Given the description of an element on the screen output the (x, y) to click on. 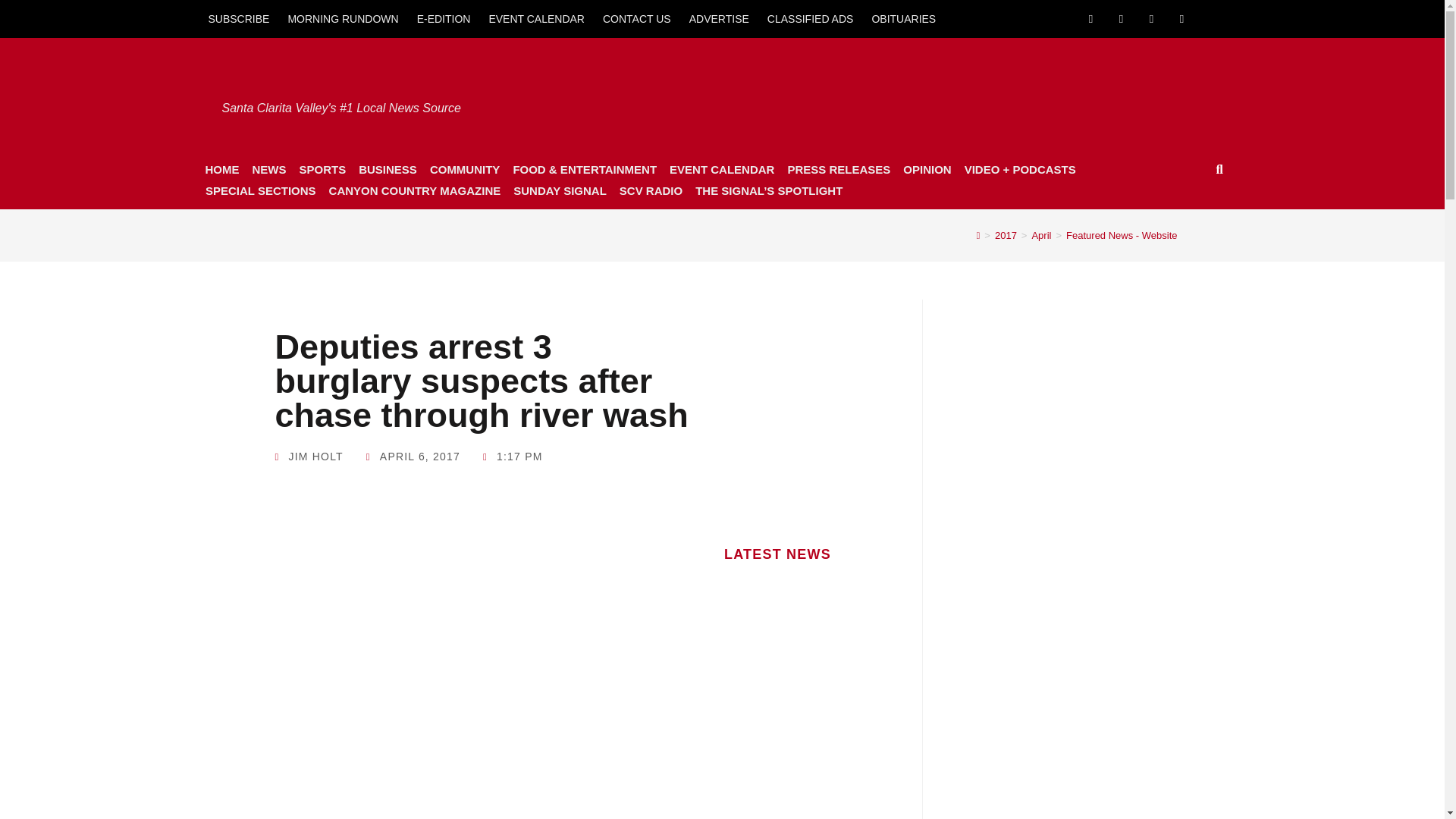
E-EDITION (443, 18)
SPORTS (322, 169)
EVENT CALENDAR (536, 18)
CONTACT US (636, 18)
NEWS (269, 169)
OBITUARIES (902, 18)
ADVERTISE (718, 18)
CLASSIFIED ADS (810, 18)
SUBSCRIBE (238, 18)
HOME (221, 169)
MORNING RUNDOWN (342, 18)
